Given the description of an element on the screen output the (x, y) to click on. 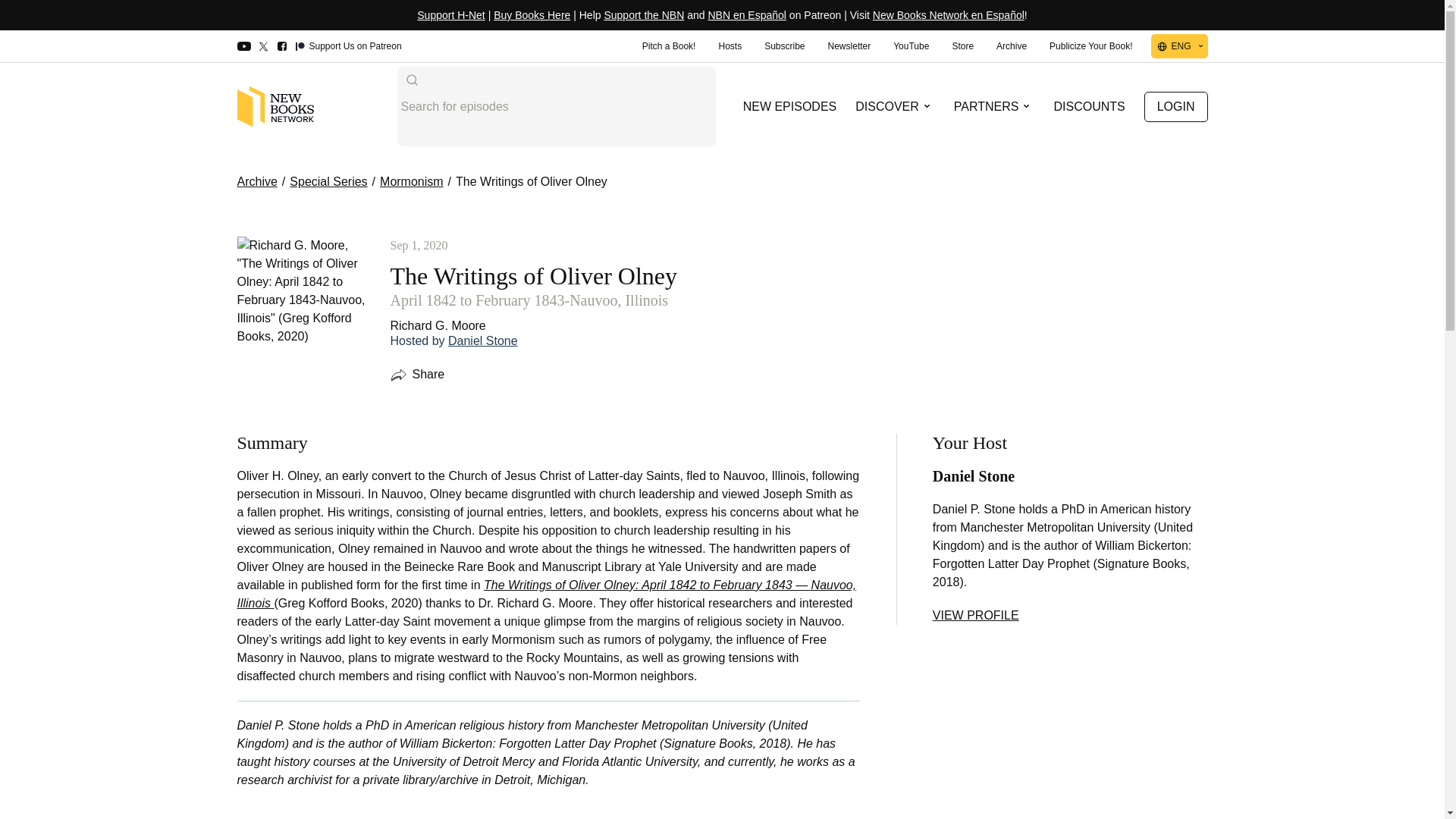
Submit (411, 79)
Archive (1011, 46)
Support H-Net (450, 15)
Support the NBN (644, 15)
Newsletter (849, 46)
Buy Books Here (531, 15)
Subscribe (784, 46)
Pitch a Book! (669, 46)
Publicize Your Book! (1090, 46)
Hosts (729, 46)
